Given the description of an element on the screen output the (x, y) to click on. 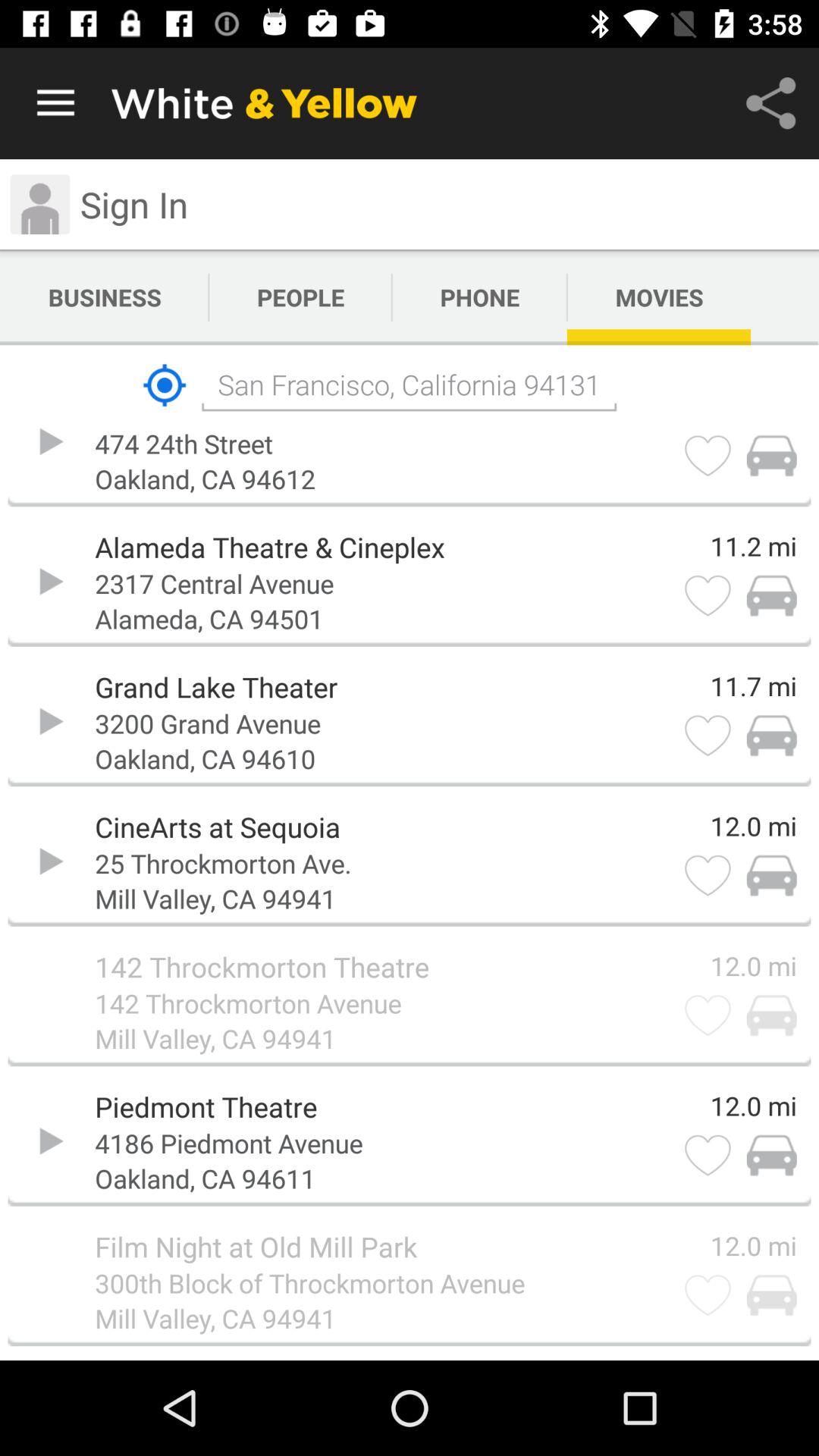
select the icon above san francisco california (104, 297)
